Given the description of an element on the screen output the (x, y) to click on. 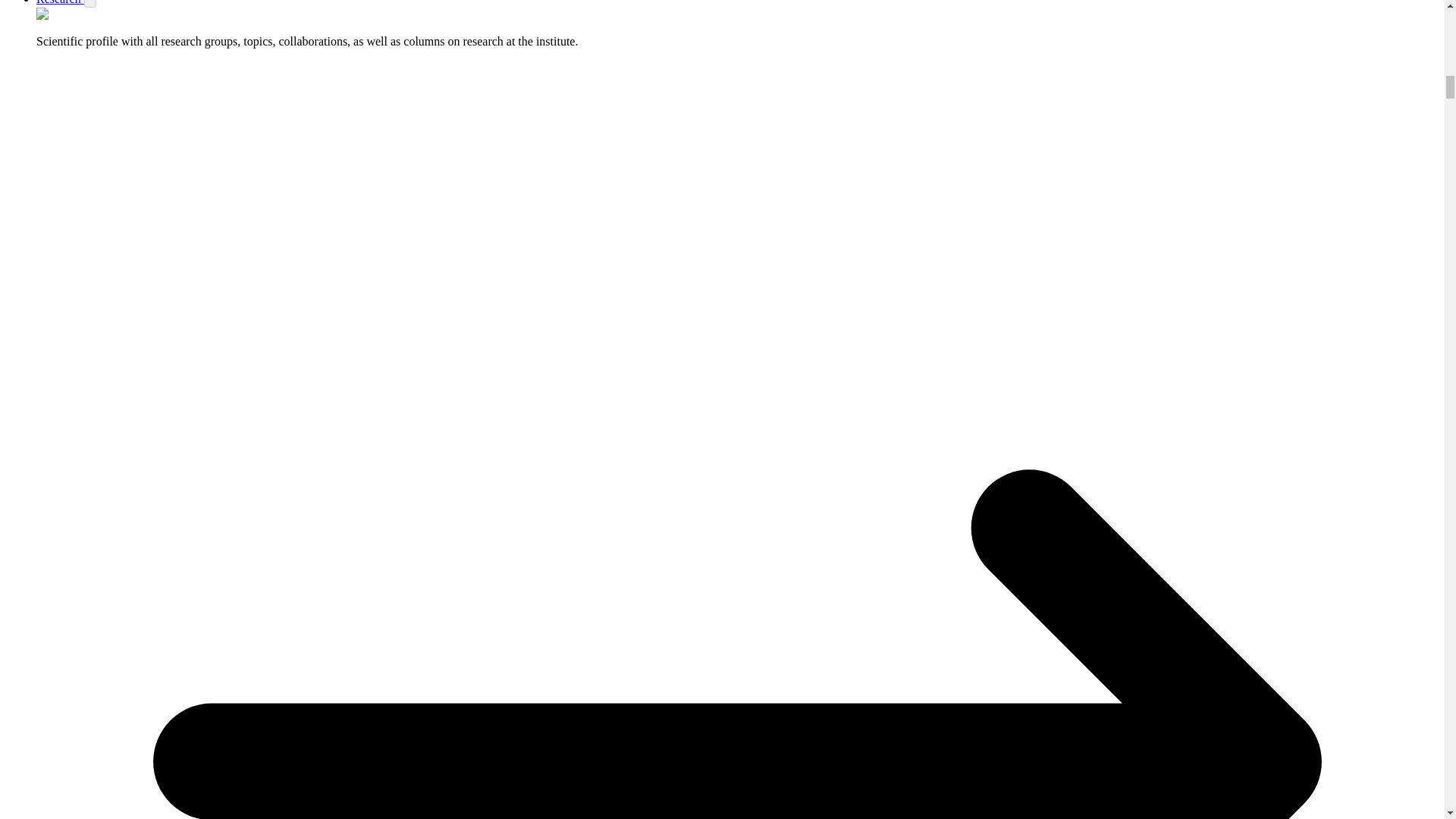
Research (60, 2)
Research (60, 2)
